Given the description of an element on the screen output the (x, y) to click on. 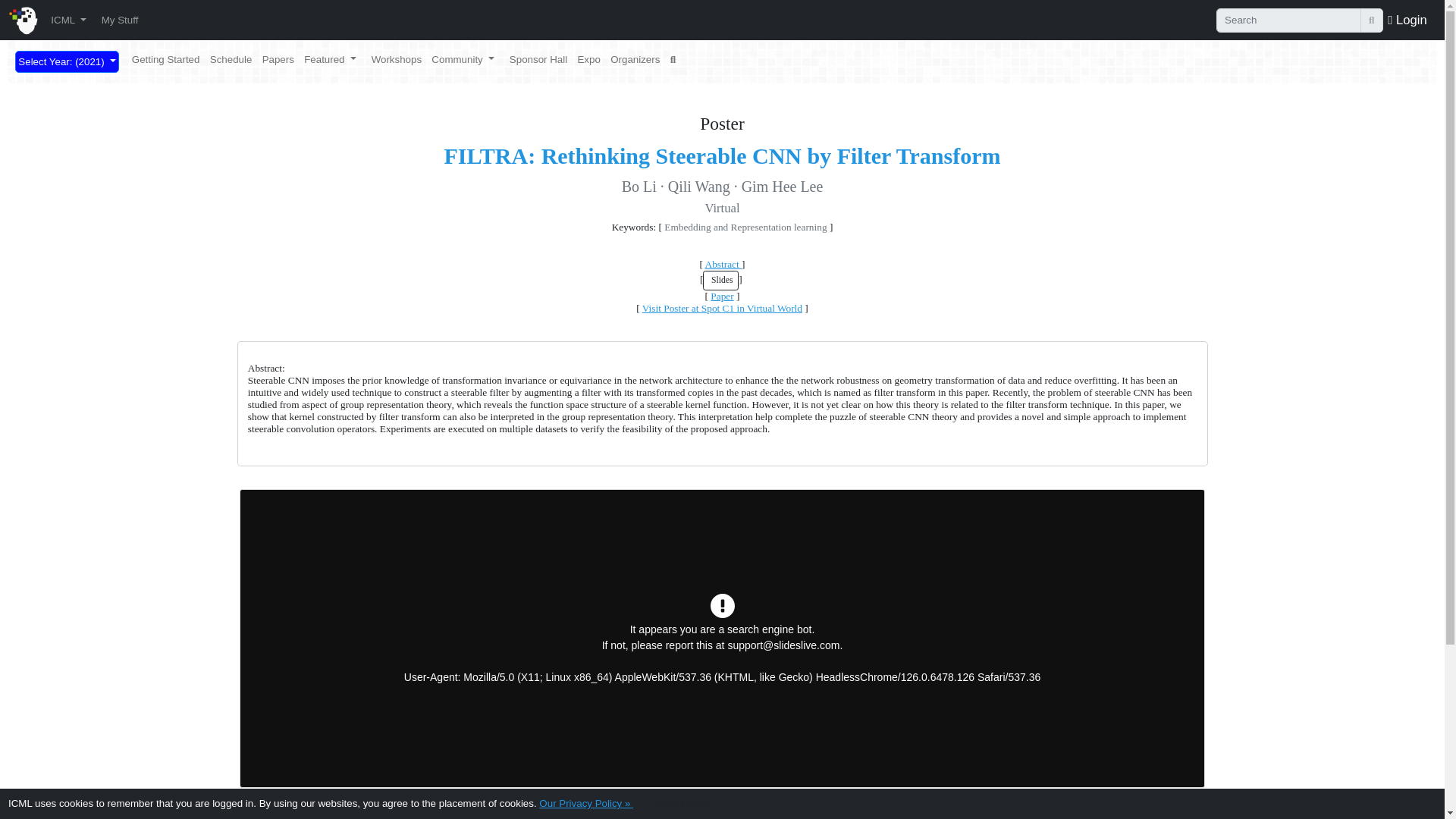
ICML (68, 20)
My Stuff (119, 20)
Slides (720, 280)
Login (1406, 19)
